Given the description of an element on the screen output the (x, y) to click on. 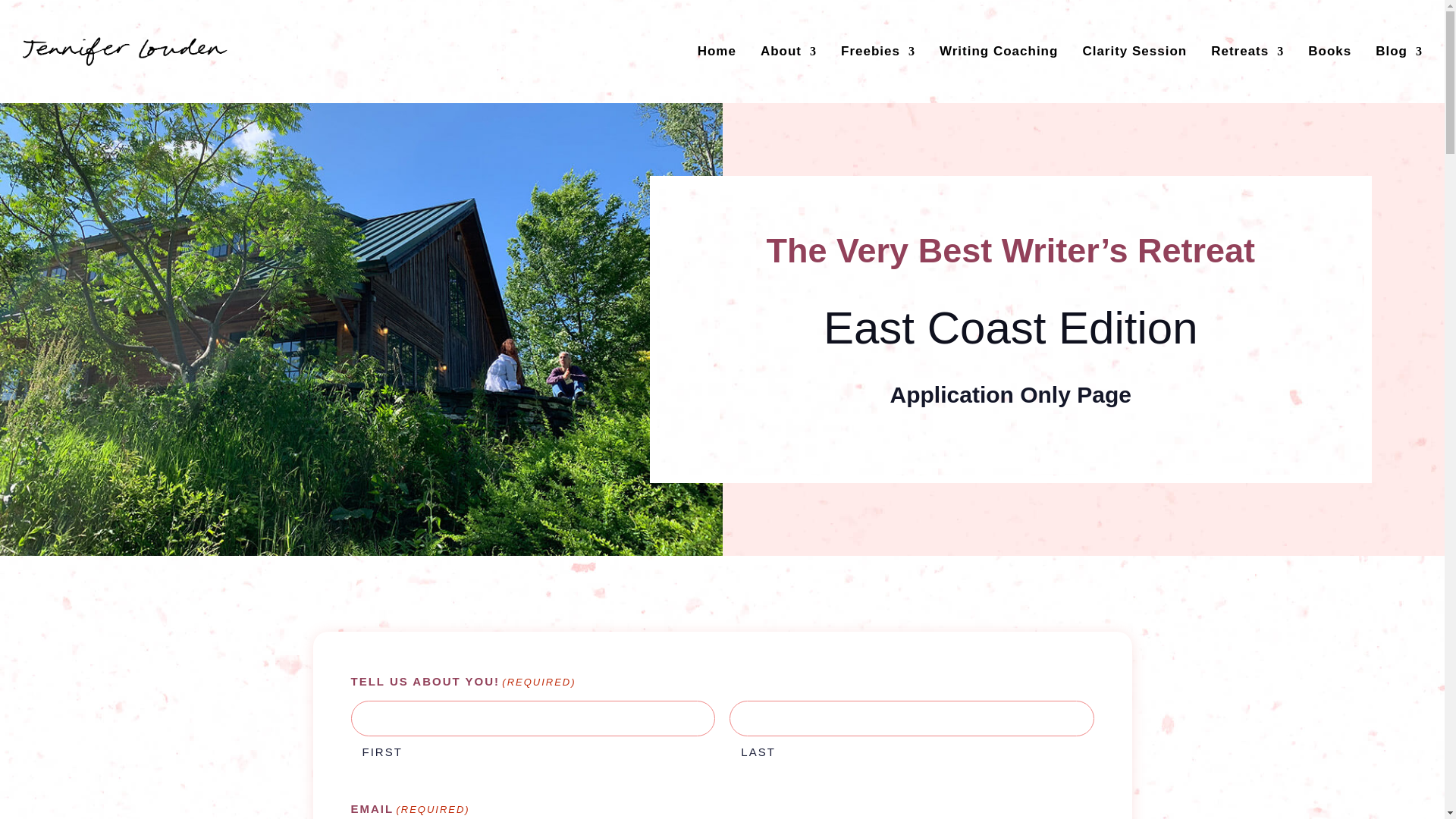
Retreats (1247, 51)
Writing Coaching (998, 51)
Freebies (878, 51)
Clarity Session (1133, 51)
About (788, 51)
